Given the description of an element on the screen output the (x, y) to click on. 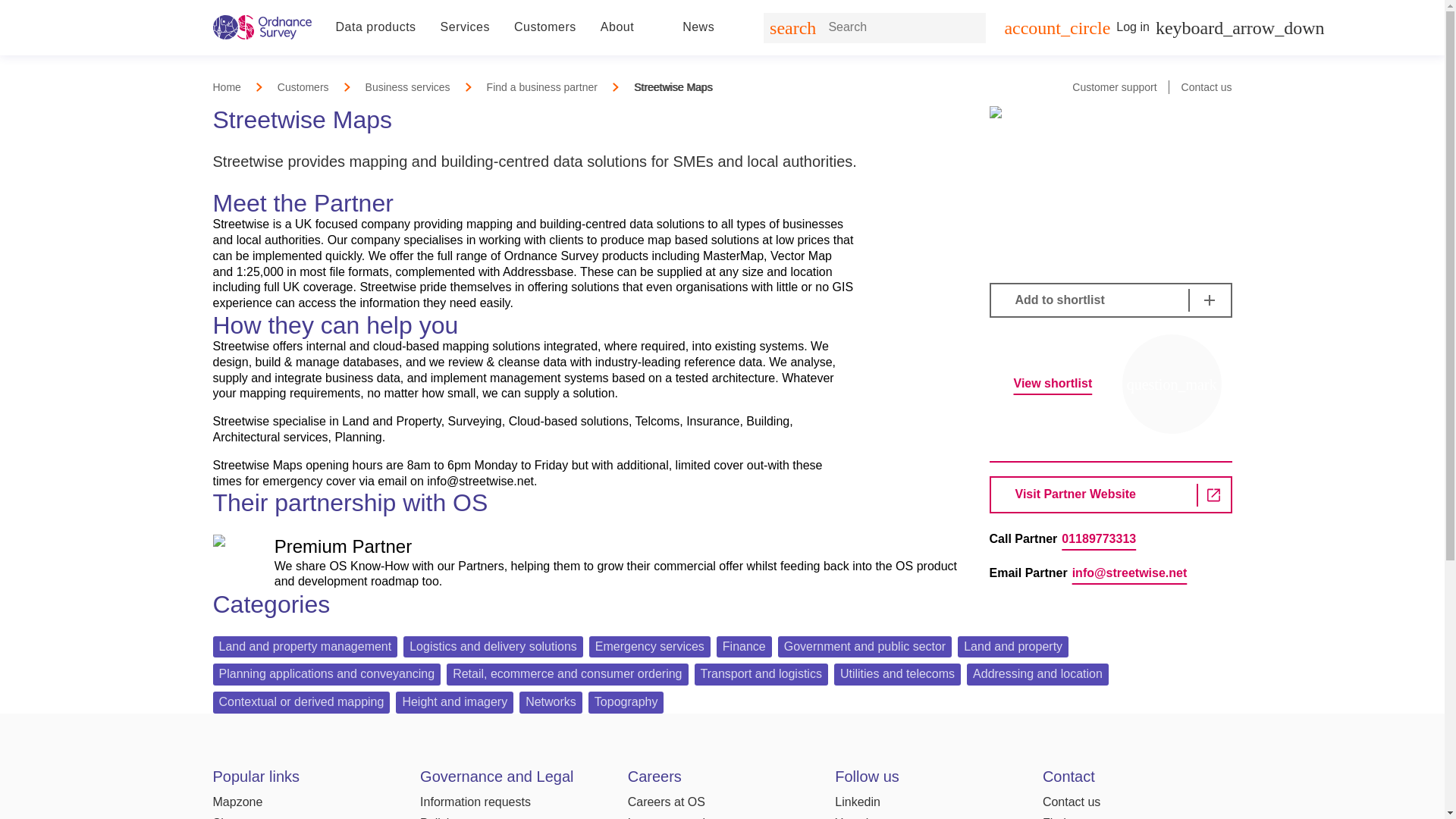
Data products (375, 27)
About (617, 27)
News (697, 27)
Business services (407, 87)
Services (465, 27)
Home (226, 87)
Customer support (1113, 87)
Find a business partner (541, 87)
Customers (545, 27)
Customers (303, 87)
